Given the description of an element on the screen output the (x, y) to click on. 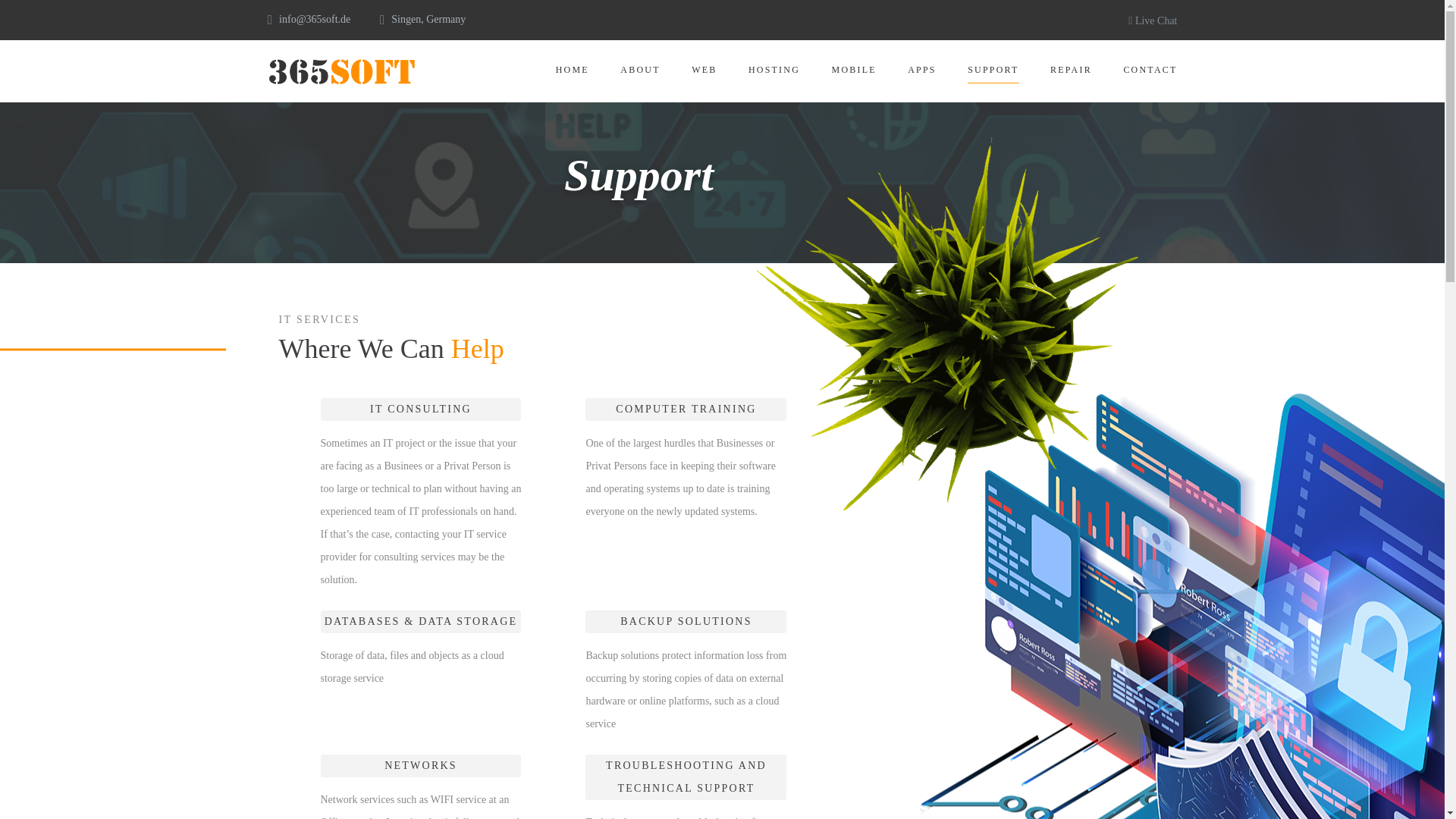
CONTACT (1149, 73)
HOSTING (773, 73)
Live Chat (1152, 20)
Singen, Germany (428, 19)
MOBILE (853, 73)
APPS (921, 73)
ABOUT (639, 73)
SUPPORT (992, 73)
HOME (572, 73)
REPAIR (1070, 73)
WEB (703, 73)
